Given the description of an element on the screen output the (x, y) to click on. 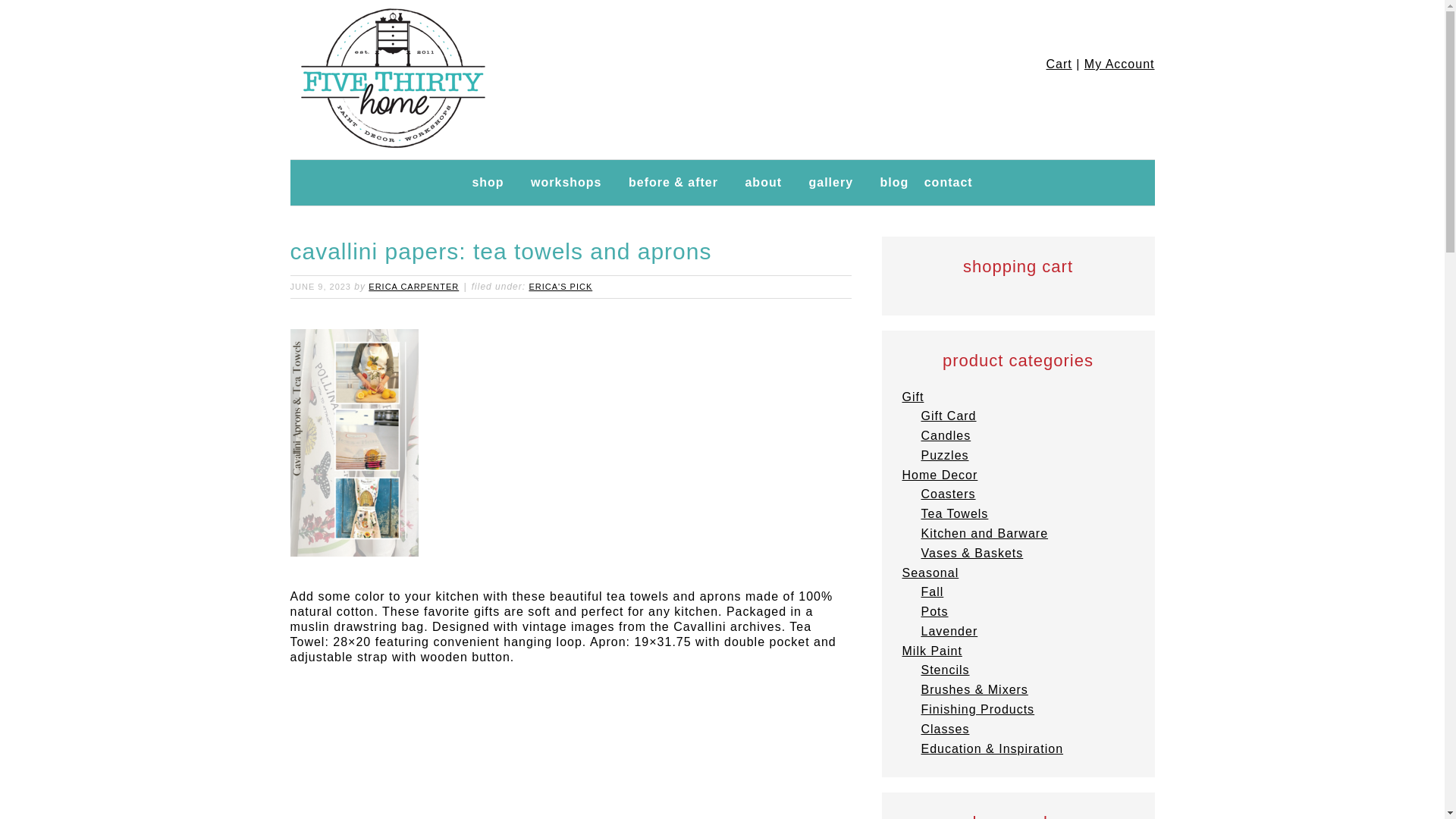
Finishing Products (976, 708)
Lavender (948, 631)
Classes (944, 728)
Cart (1058, 63)
Candles (945, 435)
Seasonal (930, 572)
Gift Card (947, 415)
Gift (913, 396)
shop (487, 182)
about (763, 182)
